Given the description of an element on the screen output the (x, y) to click on. 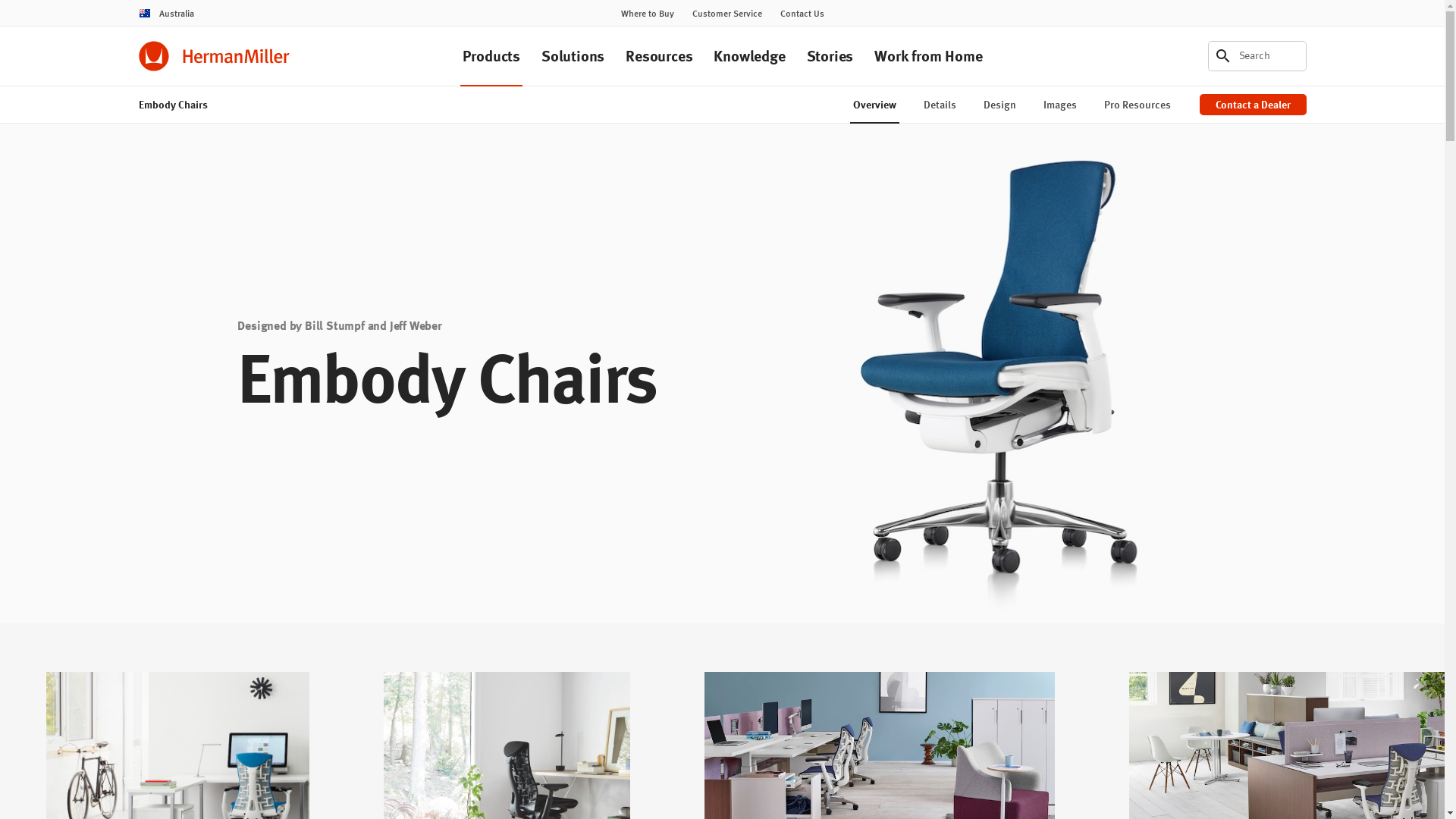
Knowledge Element type: text (749, 55)
Design Element type: text (998, 104)
Resources Element type: text (658, 55)
Products Element type: text (491, 55)
Customer Service Element type: text (726, 13)
Overview Element type: text (873, 104)
Contact Us Element type: text (801, 13)
Australia.png Element type: hover (144, 13)
Work from Home Element type: text (928, 55)
Embody Chairs Element type: text (172, 104)
Pro Resources Element type: text (1137, 104)
Images Element type: text (1059, 104)
Stories Element type: text (830, 55)
Details Element type: text (939, 104)
Herman Miller Element type: hover (213, 55)
Australia Element type: text (165, 12)
Skip Slider Element type: text (236, 429)
Solutions Element type: text (572, 55)
Where to Buy Element type: text (646, 13)
Contact a Dealer Element type: text (1252, 104)
